Given the description of an element on the screen output the (x, y) to click on. 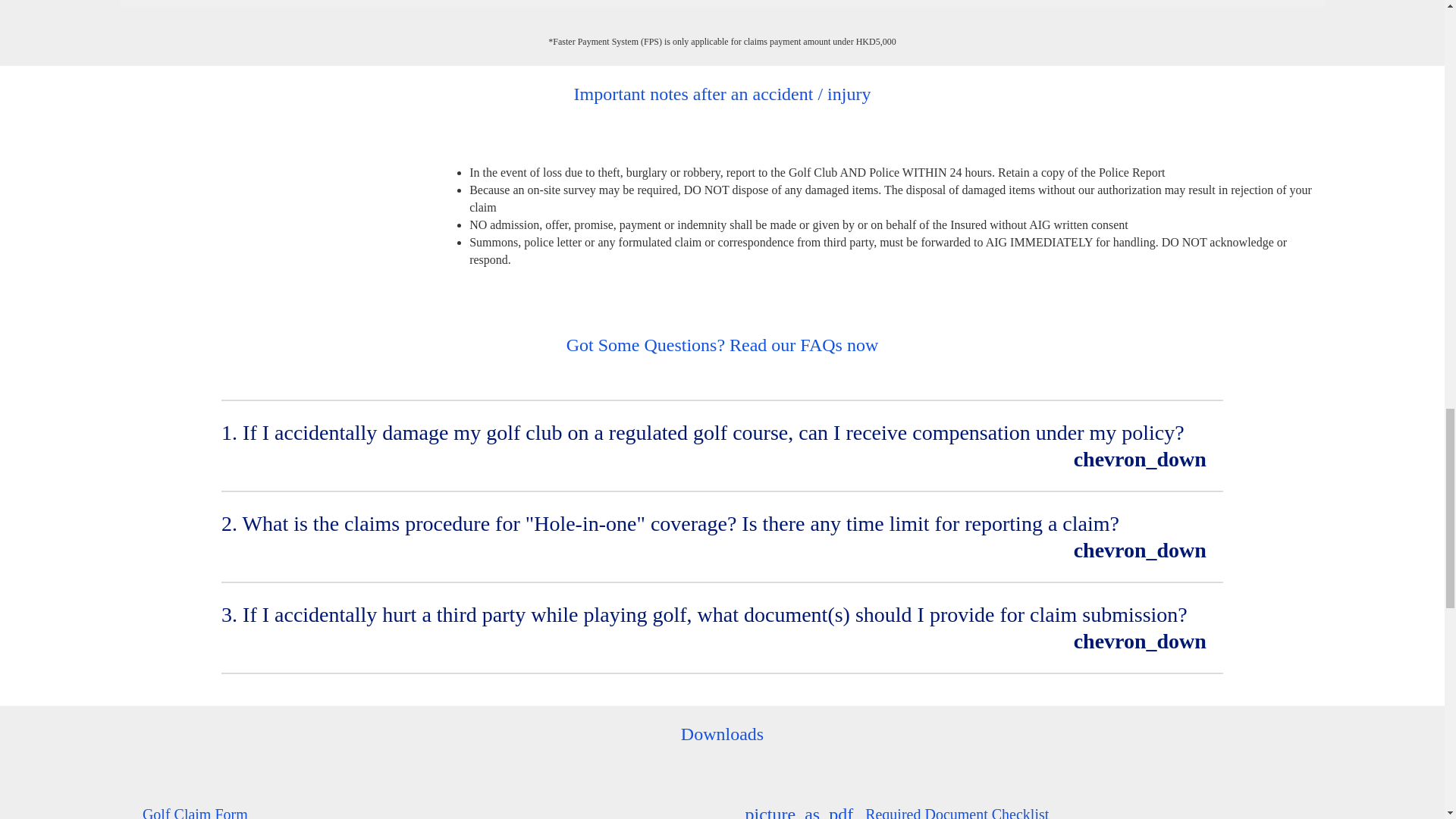
Required Document Checklist (885, 812)
Golf Claim Form (183, 812)
